Given the description of an element on the screen output the (x, y) to click on. 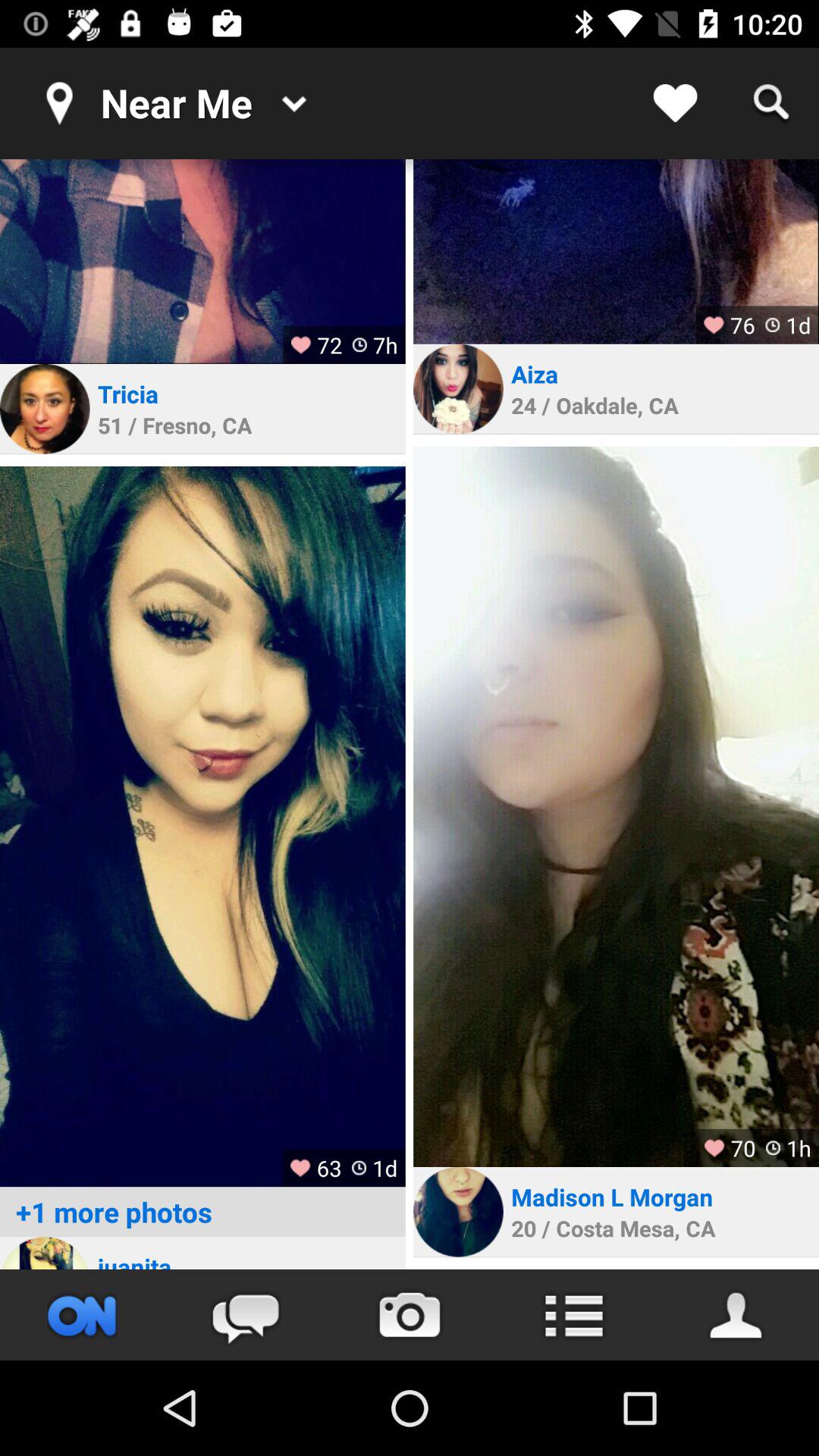
go to customize (573, 1315)
